Given the description of an element on the screen output the (x, y) to click on. 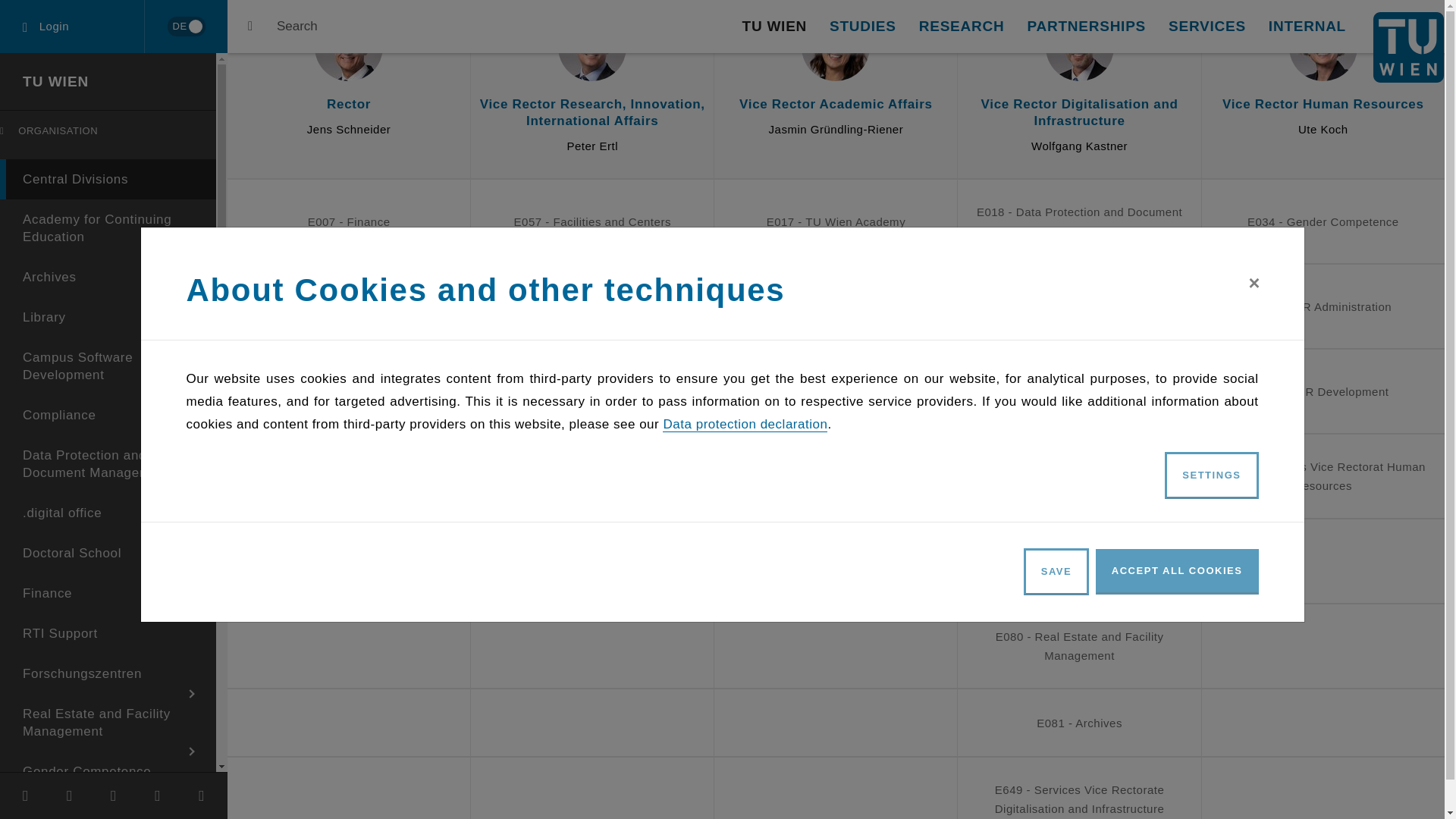
International Office (107, 73)
Internal control system (107, 6)
Information Security (107, 33)
